Given the description of an element on the screen output the (x, y) to click on. 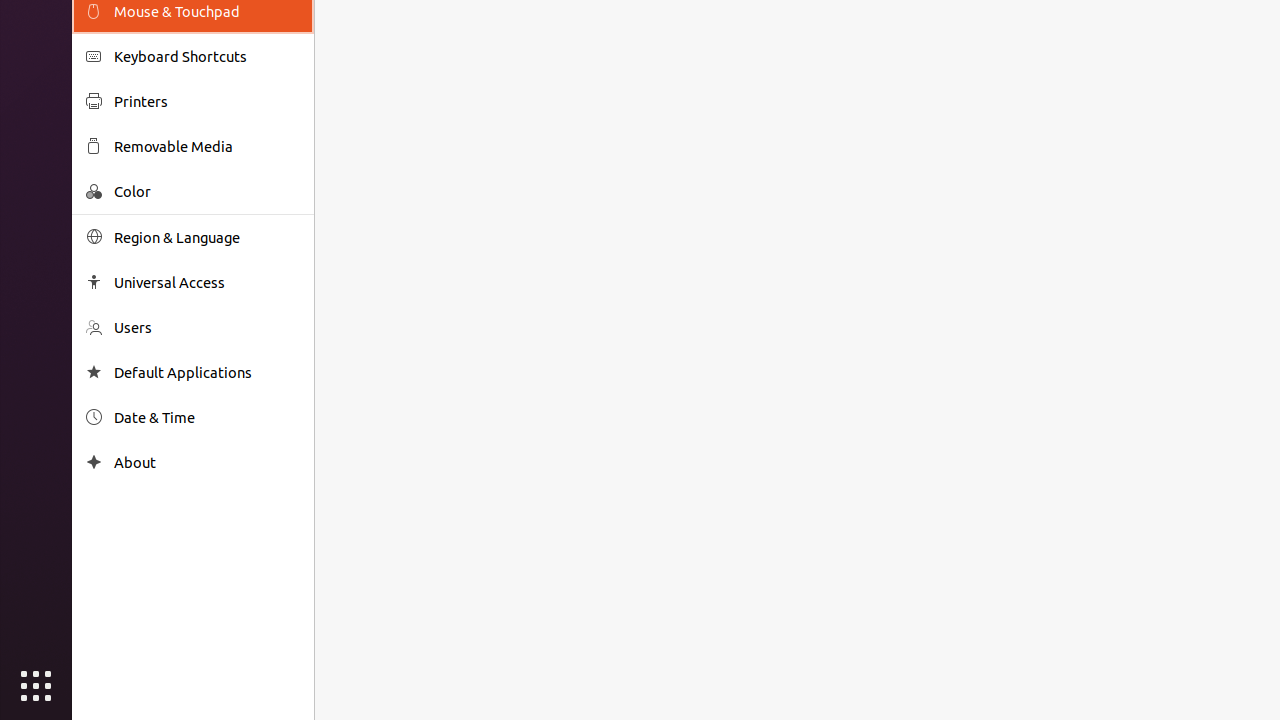
Universal Access Element type: label (207, 282)
Color Element type: label (207, 191)
About Element type: icon (94, 462)
Users Element type: label (207, 327)
